Given the description of an element on the screen output the (x, y) to click on. 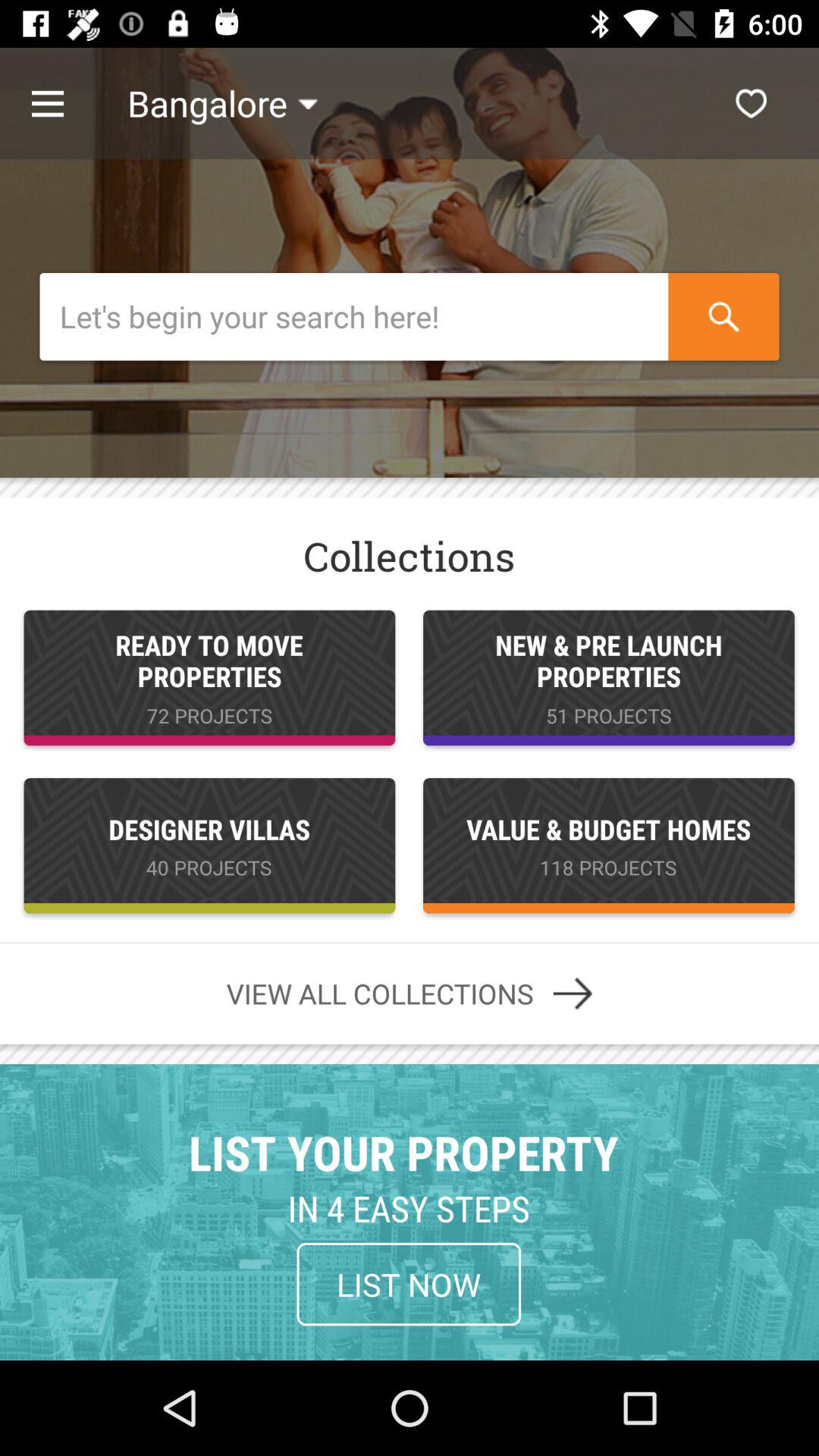
flip until the list now (408, 1283)
